Given the description of an element on the screen output the (x, y) to click on. 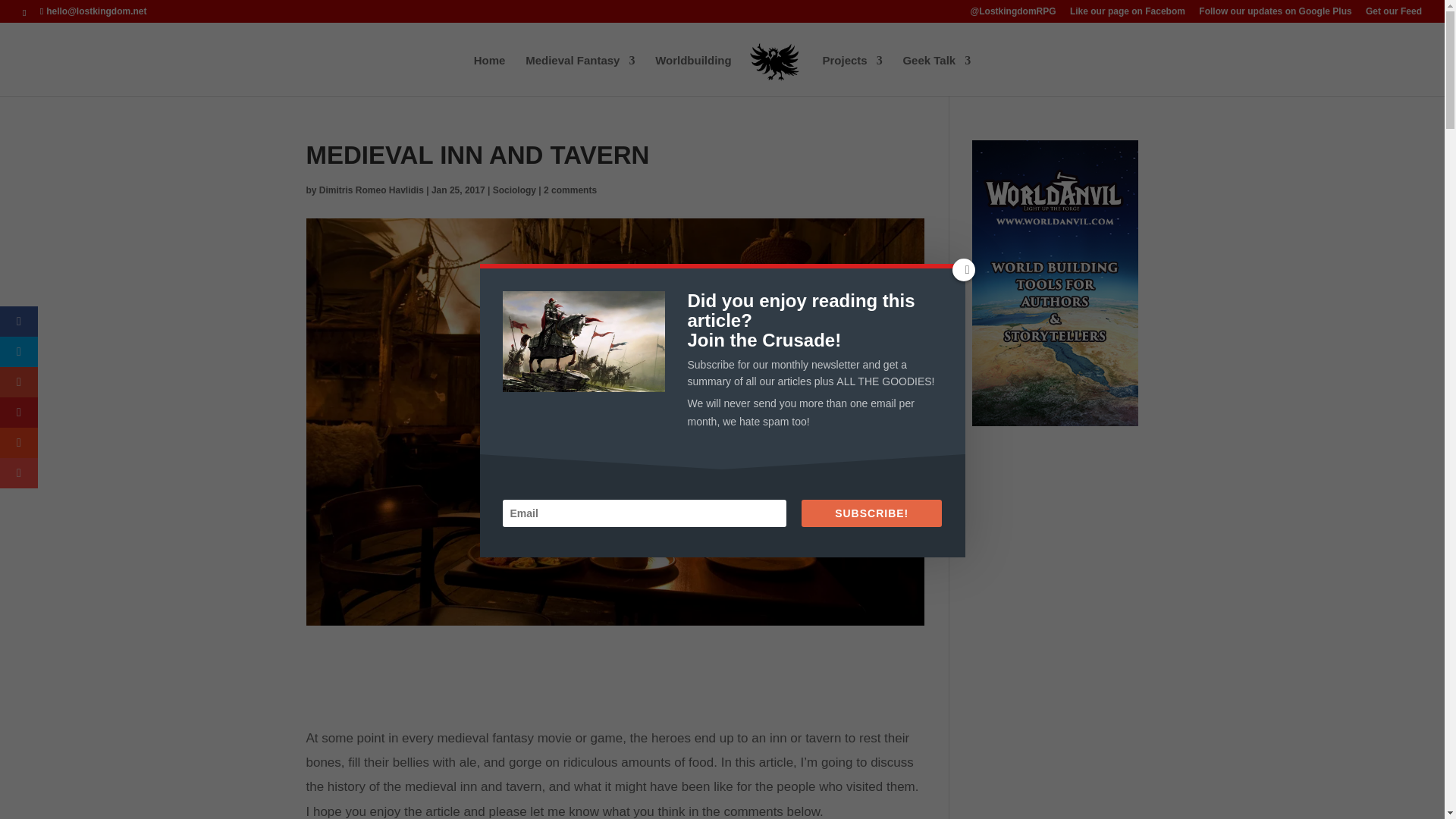
Projects (852, 75)
Follow our updates on Google Plus (1274, 14)
Posts by Dimitris Romeo Havlidis (370, 190)
Medieval Fantasy (579, 75)
Worldbuilding (693, 75)
Get our Feed (1393, 14)
Advertisement (615, 687)
Like our page on Facebom (1127, 14)
Geek Talk (936, 75)
